Given the description of an element on the screen output the (x, y) to click on. 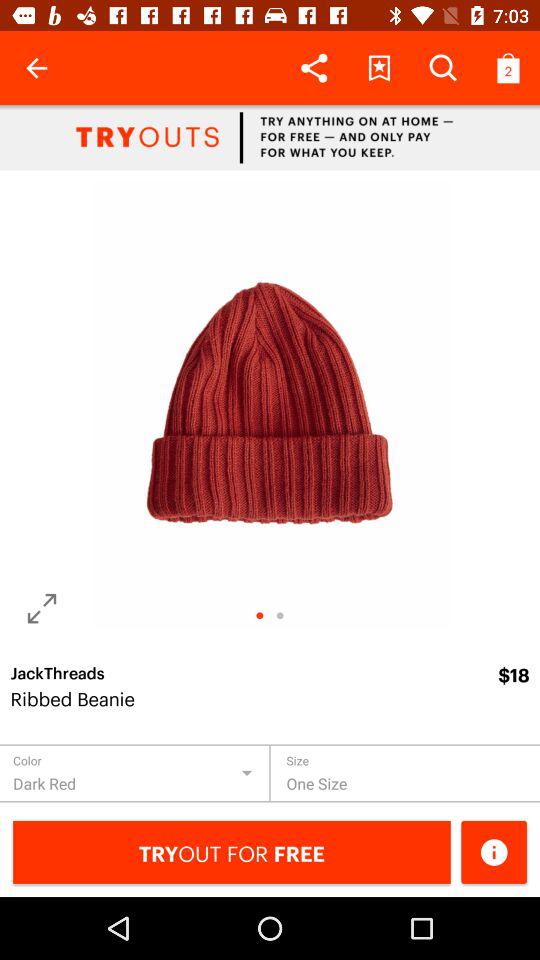
see more information (493, 851)
